Given the description of an element on the screen output the (x, y) to click on. 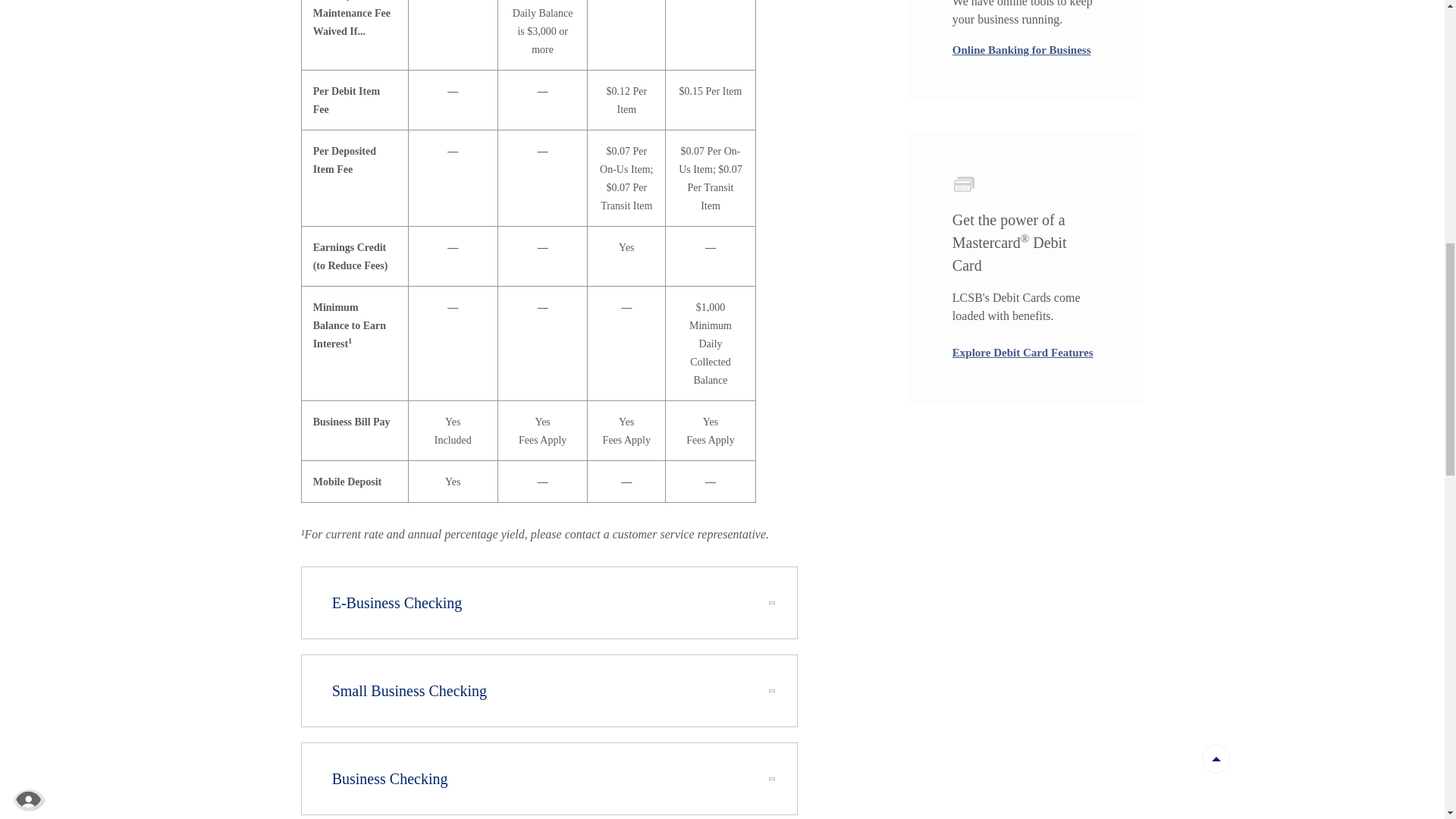
Explore Debit Card Features (1022, 352)
Online Banking for Business (1021, 50)
